Given the description of an element on the screen output the (x, y) to click on. 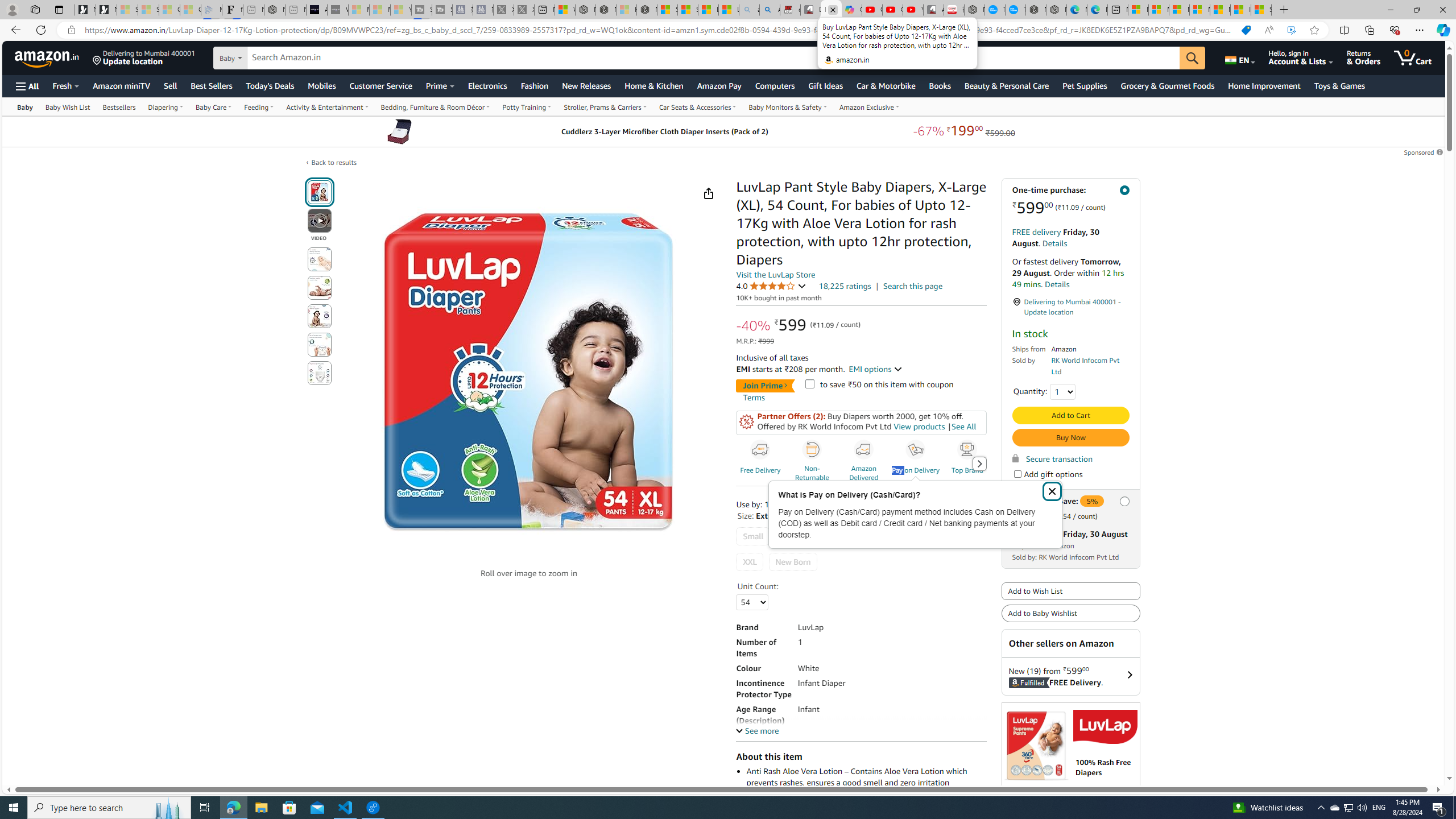
I Gained 20 Pounds of Muscle in 30 Days! | Watch (1240, 9)
Nordace - #1 Japanese Best-Seller - Siena Smart Backpack (274, 9)
Microsoft account | Microsoft Account Privacy Settings (1158, 9)
Gloom - YouTube (892, 9)
